Given the description of an element on the screen output the (x, y) to click on. 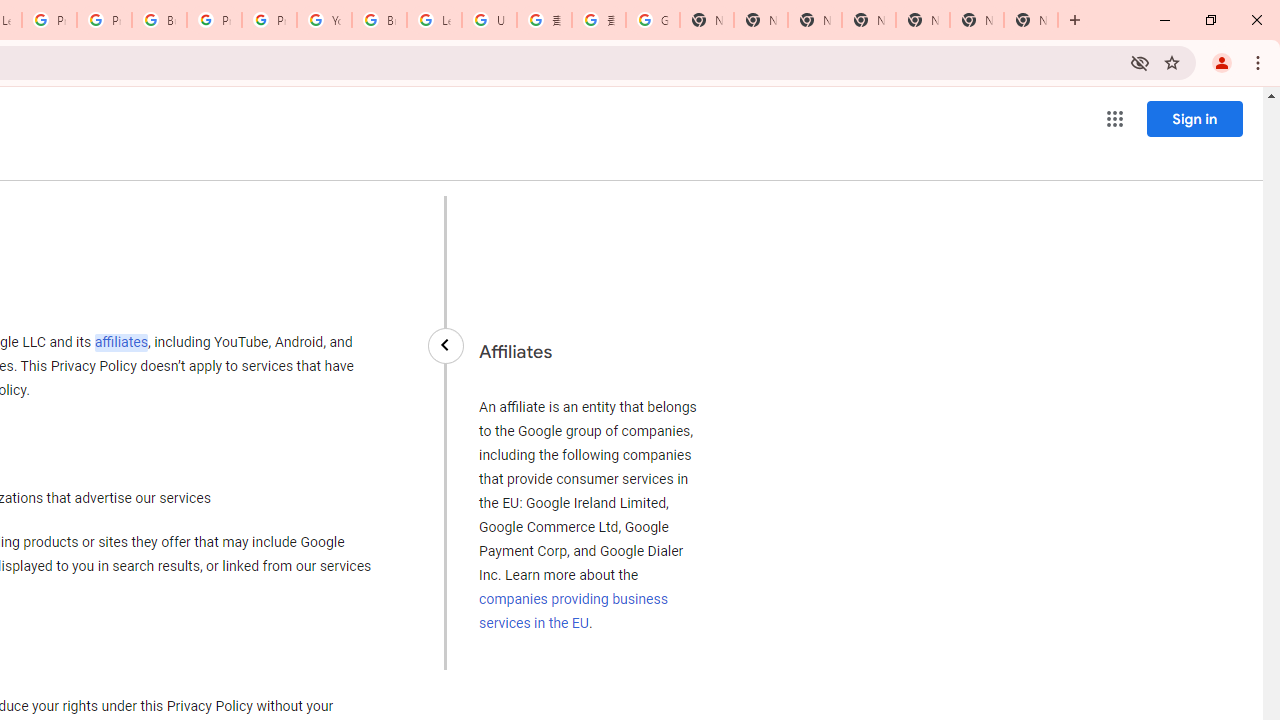
Privacy Help Center - Policies Help (48, 20)
New Tab (1030, 20)
New Tab (868, 20)
YouTube (324, 20)
Google Images (652, 20)
Privacy Help Center - Policies Help (103, 20)
companies providing business services in the EU (573, 610)
